Given the description of an element on the screen output the (x, y) to click on. 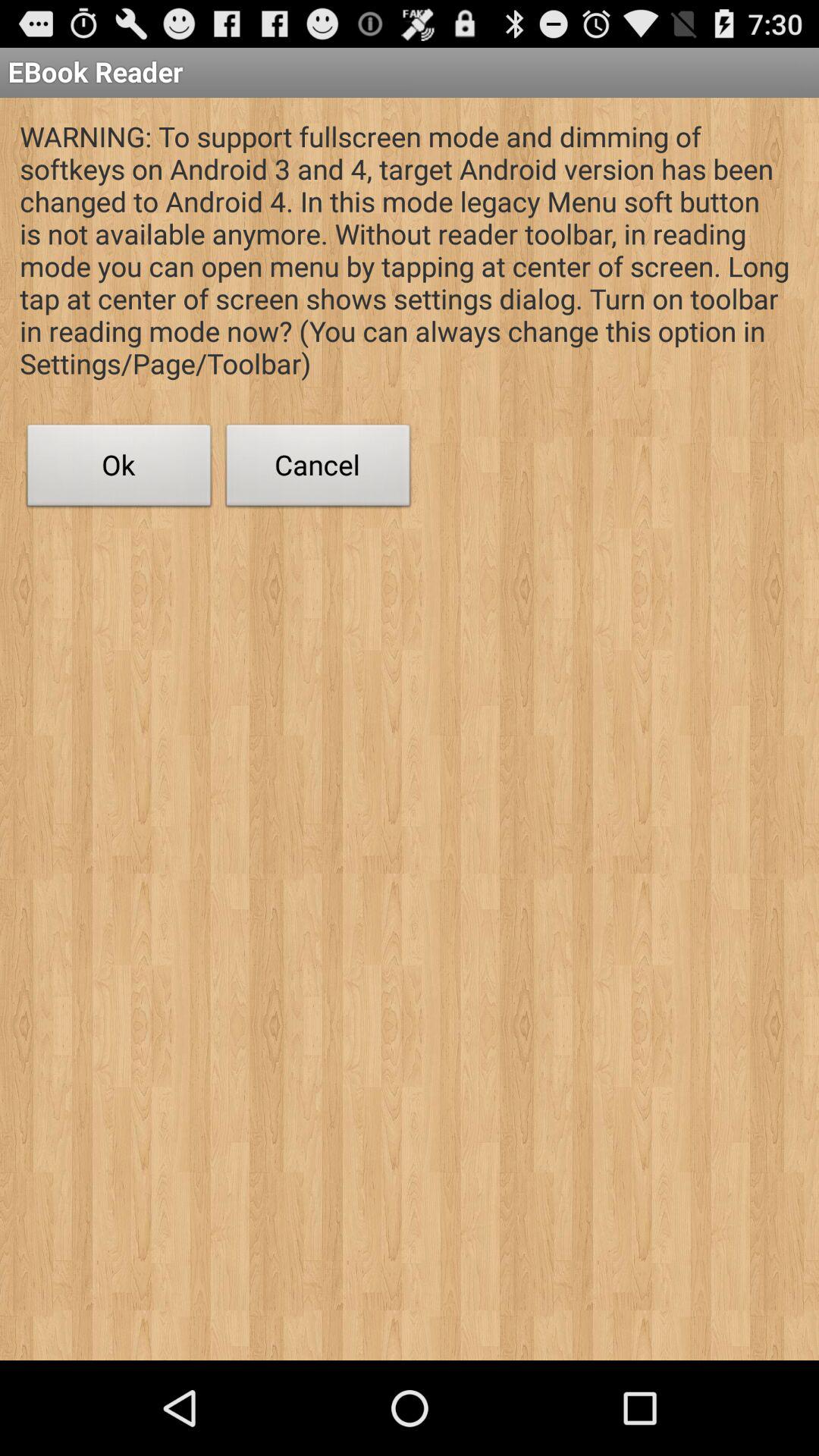
click icon to the right of the ok icon (318, 469)
